Given the description of an element on the screen output the (x, y) to click on. 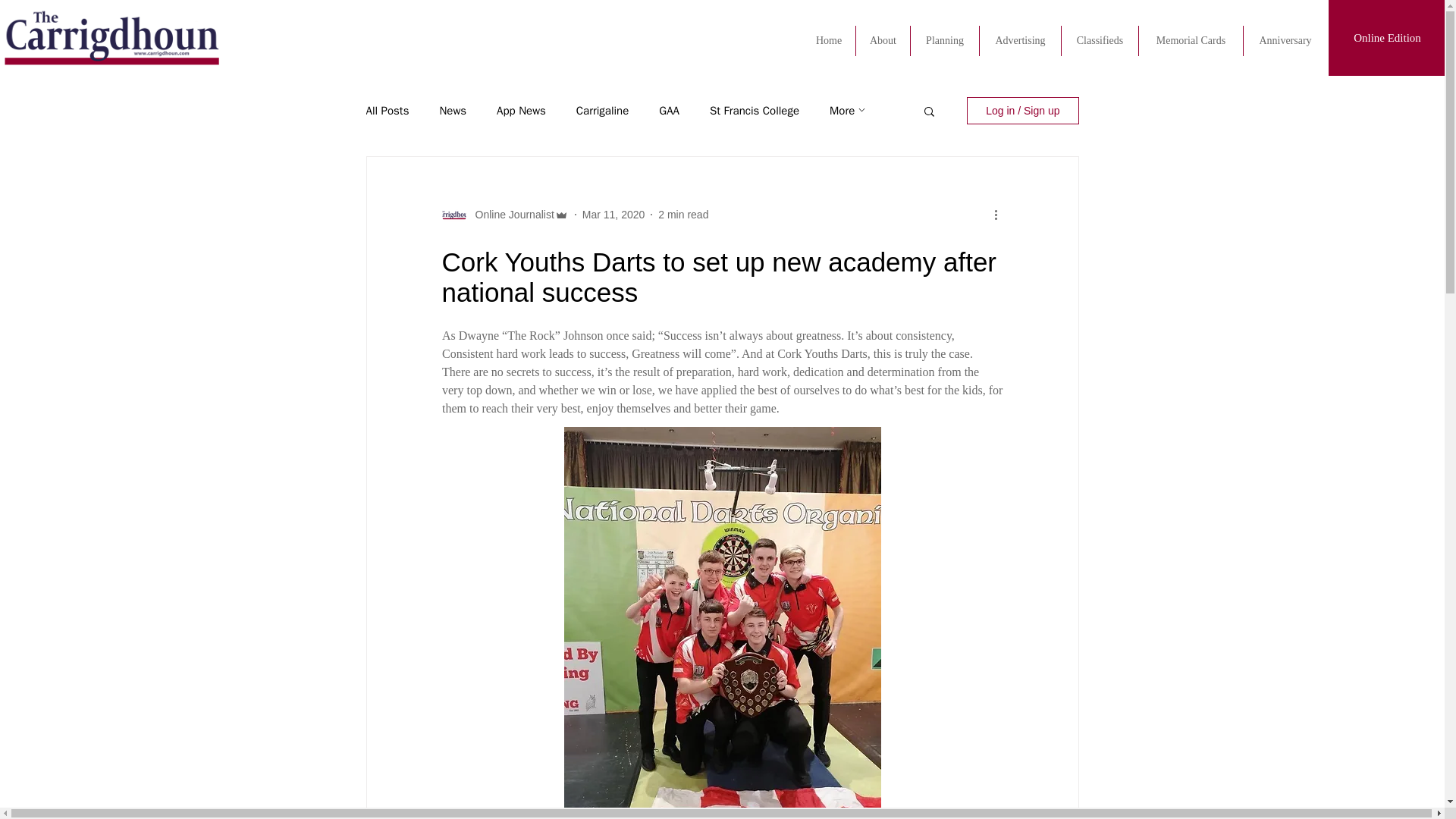
Carrigaline (602, 110)
Home (829, 40)
Memorial Cards (1190, 40)
News (452, 110)
St Francis College (754, 110)
Planning (944, 40)
All Posts (387, 110)
GAA (669, 110)
Classifieds (1099, 40)
Advertising (1020, 40)
